Given the description of an element on the screen output the (x, y) to click on. 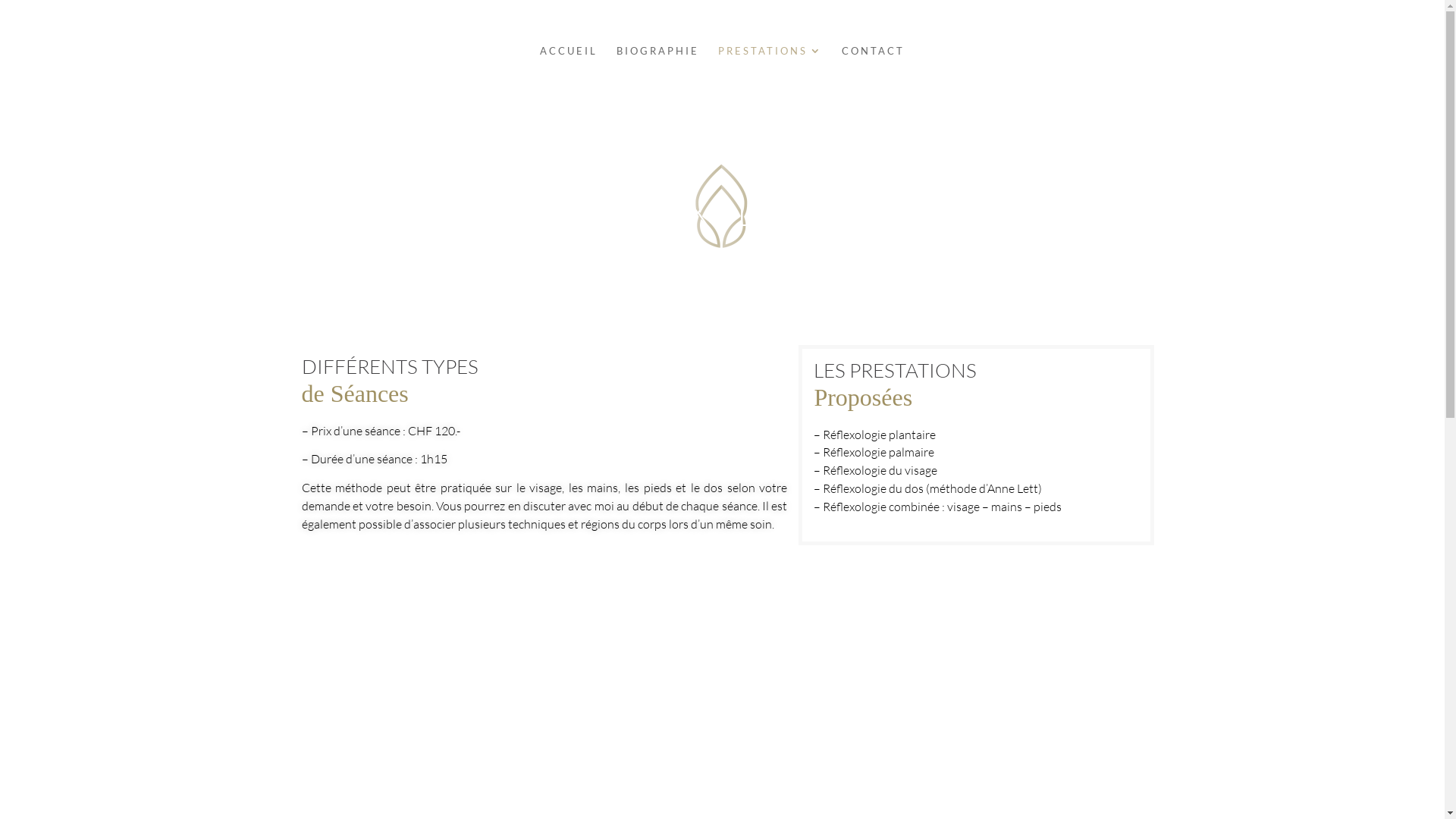
CONTACT Element type: text (872, 73)
ACCUEIL Element type: text (568, 73)
BIOGRAPHIE Element type: text (657, 73)
PRESTATIONS Element type: text (770, 73)
Icone-Cindy-Savary Element type: hover (722, 208)
